Given the description of an element on the screen output the (x, y) to click on. 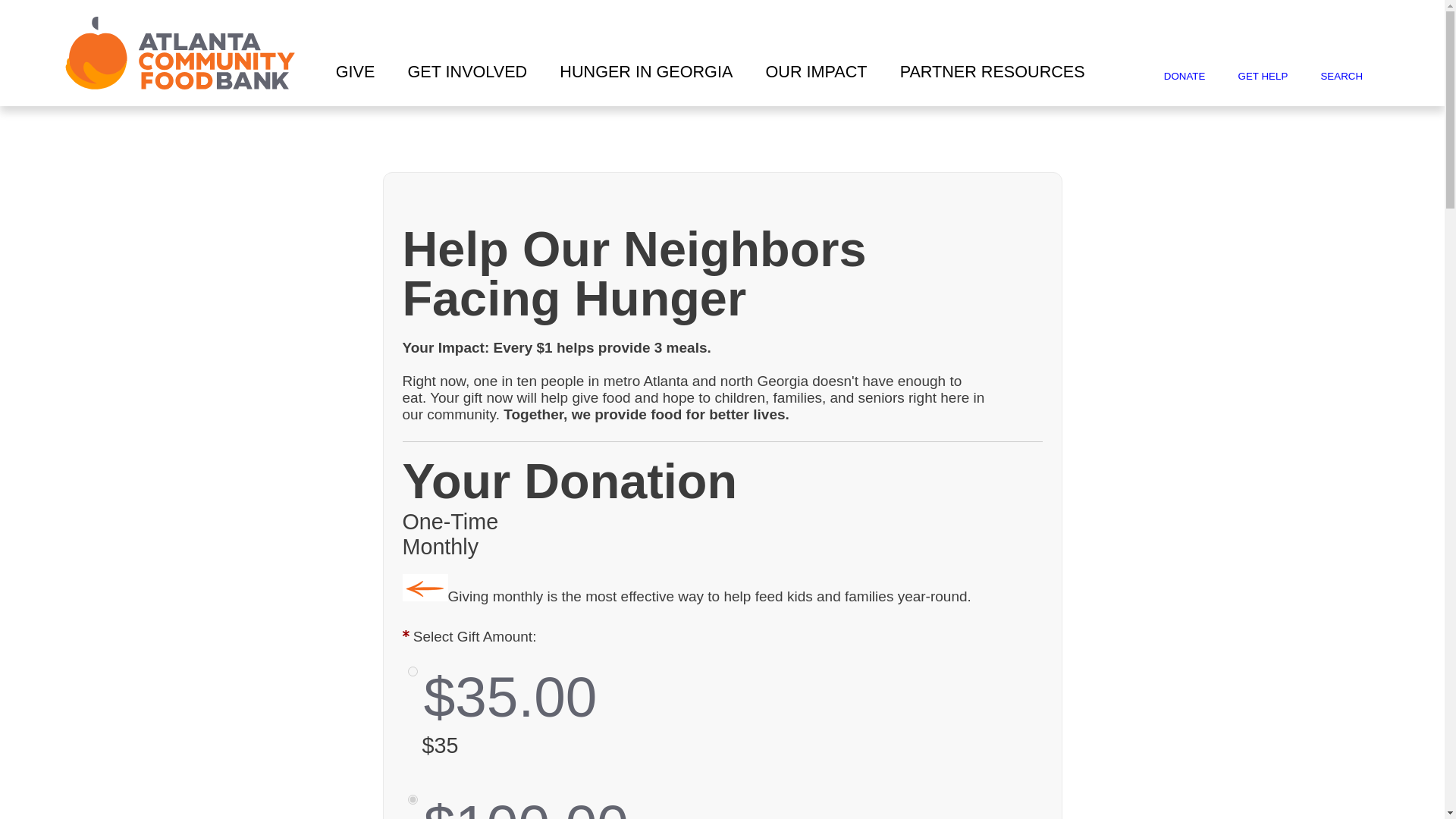
SEARCH (1341, 75)
OUR IMPACT (816, 73)
11455 (412, 671)
DONATE (1184, 75)
PARTNER RESOURCES (991, 73)
GET INVOLVED (467, 73)
HUNGER IN GEORGIA (646, 73)
GIVE (354, 73)
11450 (412, 799)
GET HELP (1263, 75)
